Given the description of an element on the screen output the (x, y) to click on. 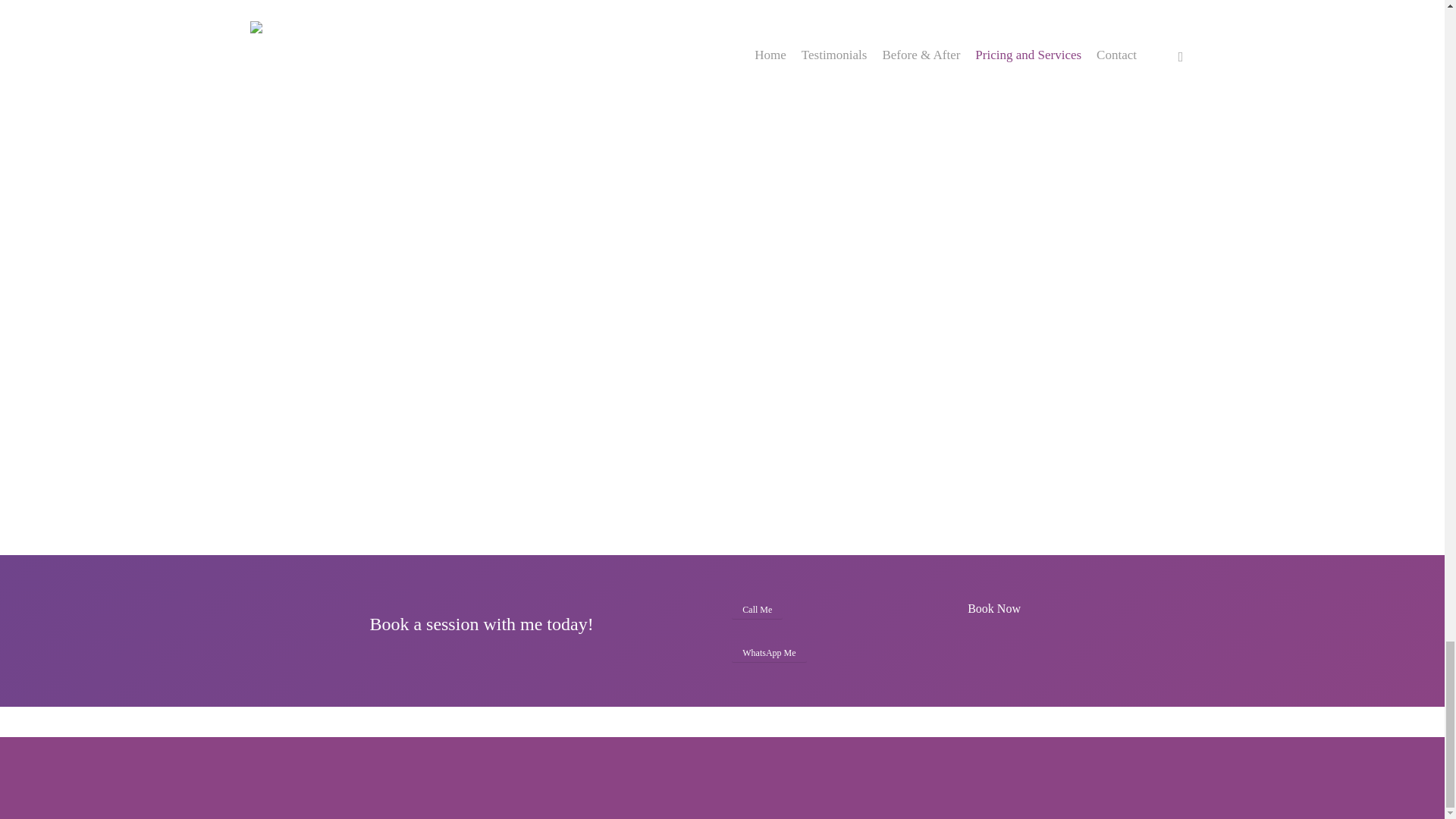
WhatsApp Me (769, 652)
Call Me (757, 609)
Book Now (994, 608)
